Given the description of an element on the screen output the (x, y) to click on. 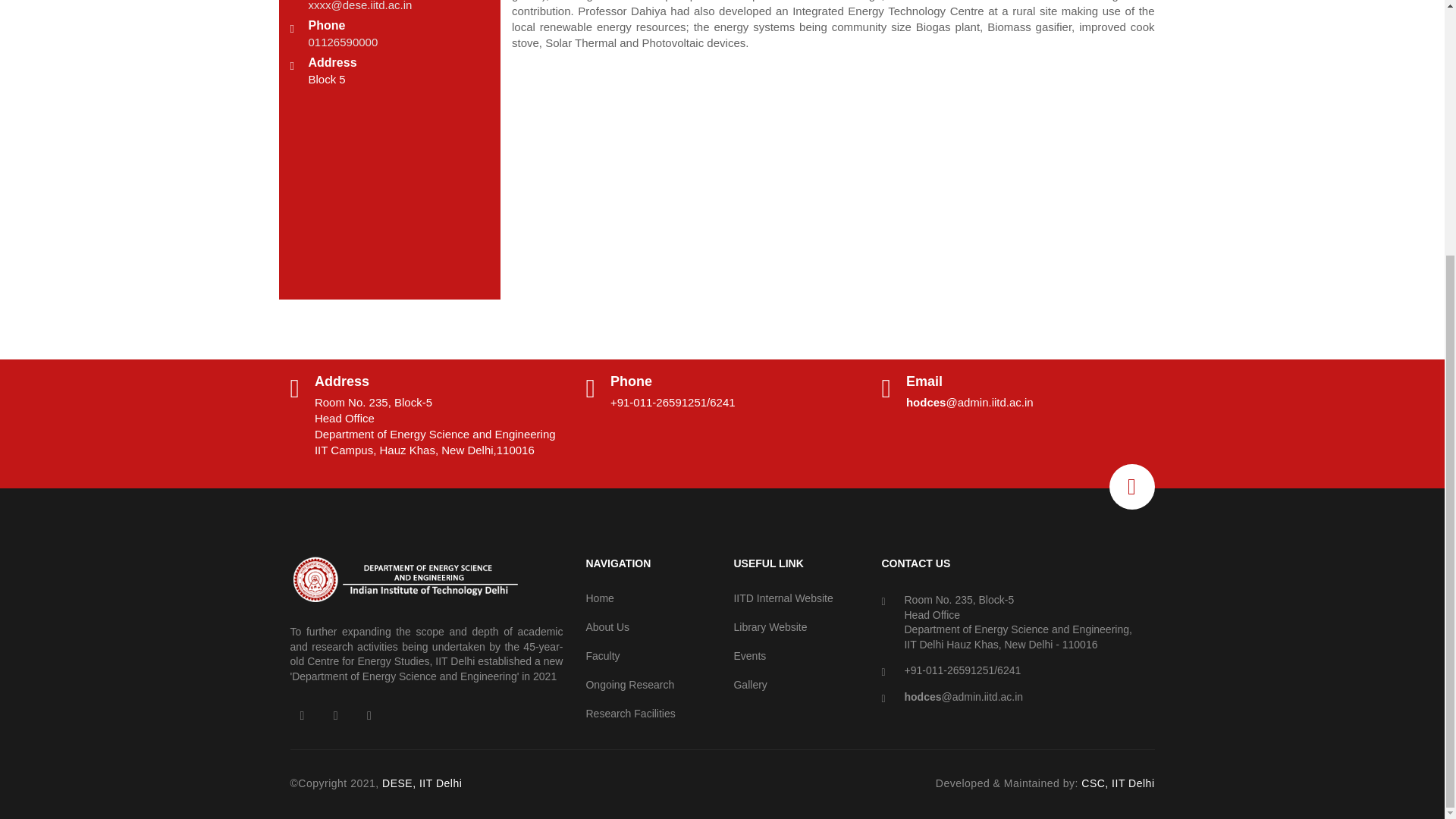
01126590000 (342, 42)
